Given the description of an element on the screen output the (x, y) to click on. 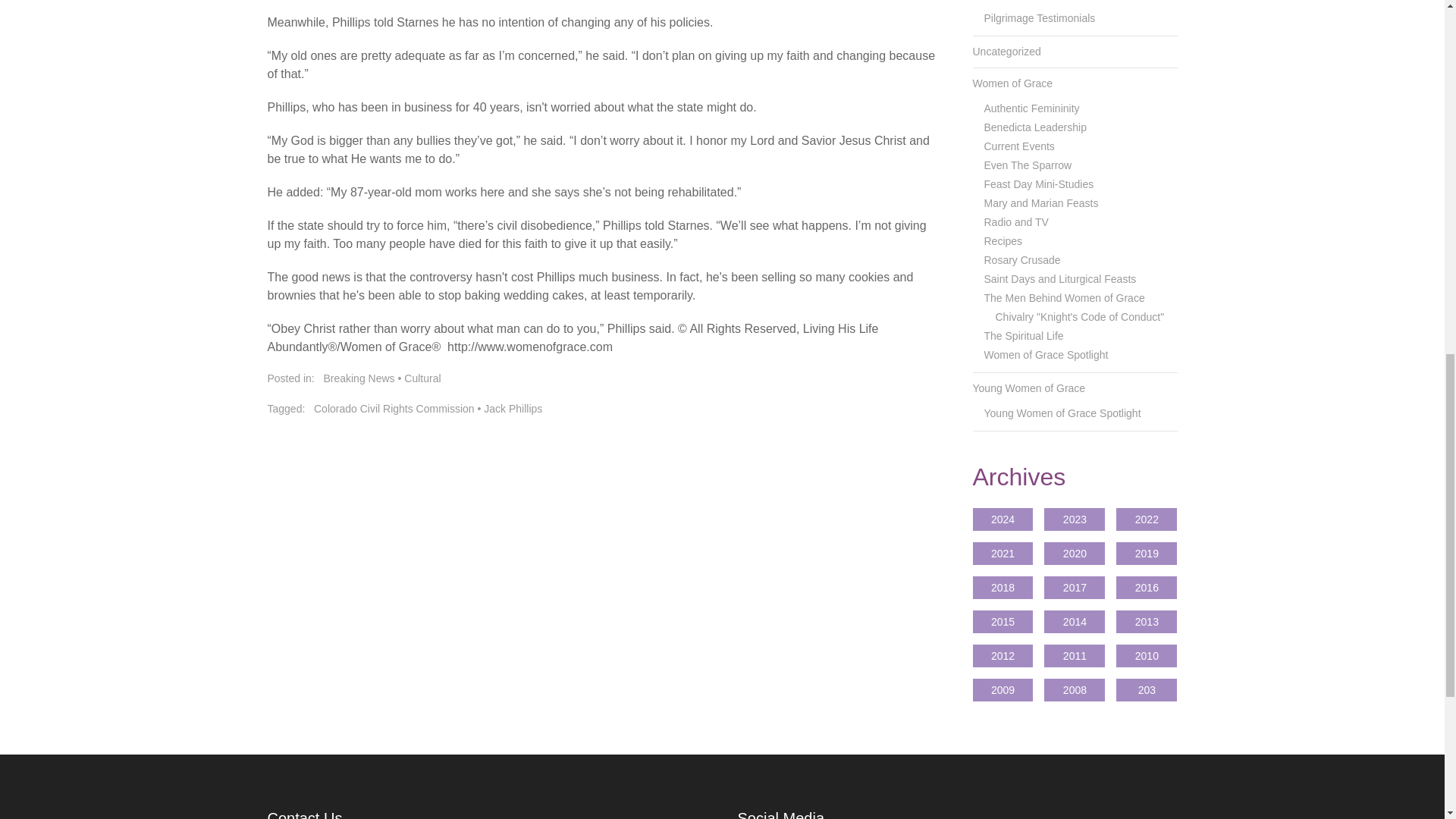
Cultural (422, 378)
Colorado Civil Rights Commission (394, 408)
Breaking News (358, 378)
Jack Phillips (512, 408)
